Given the description of an element on the screen output the (x, y) to click on. 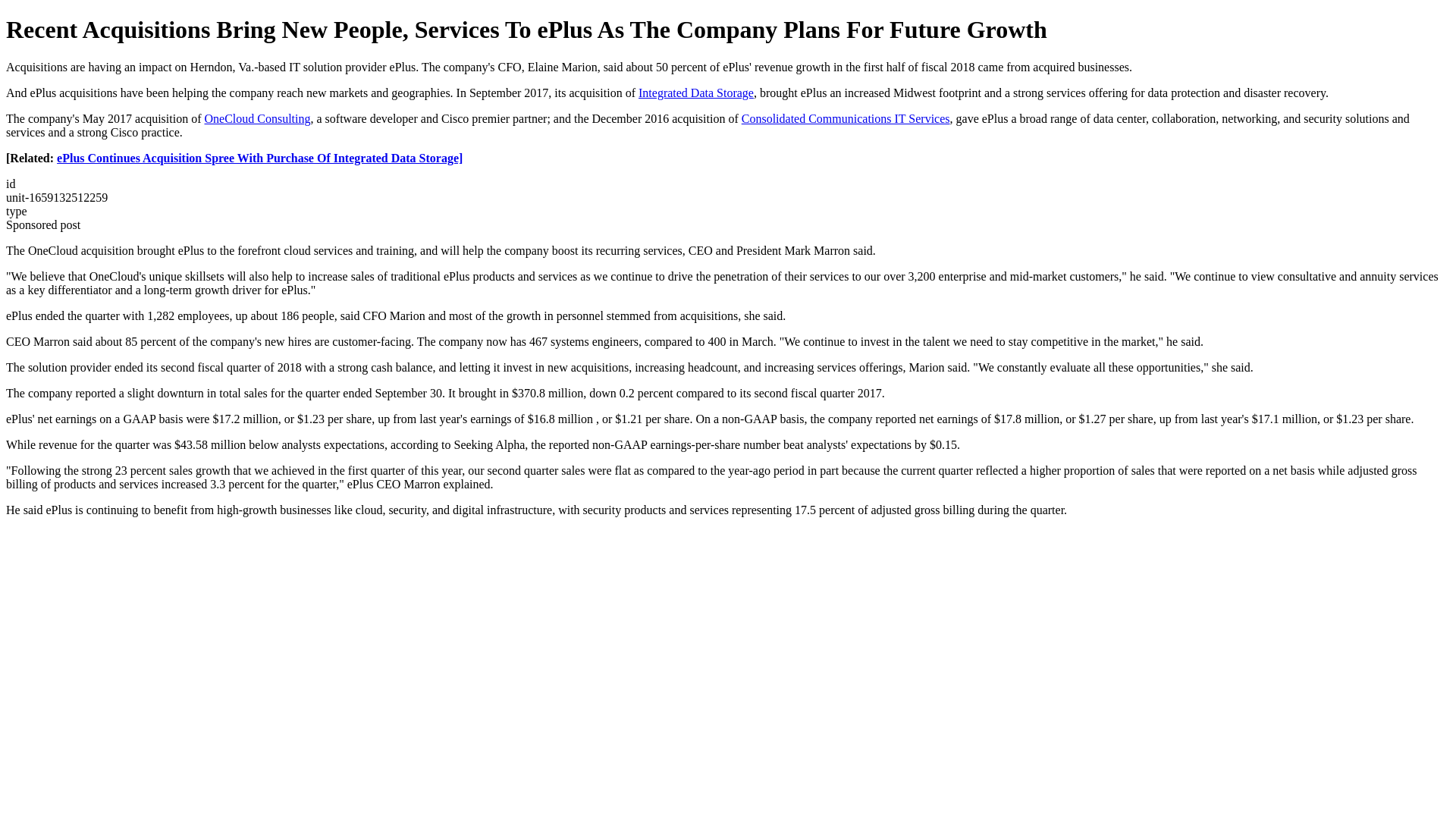
Consolidated Communications IT Services (845, 118)
OneCloud Consulting (258, 118)
Integrated Data Storage (696, 92)
